Given the description of an element on the screen output the (x, y) to click on. 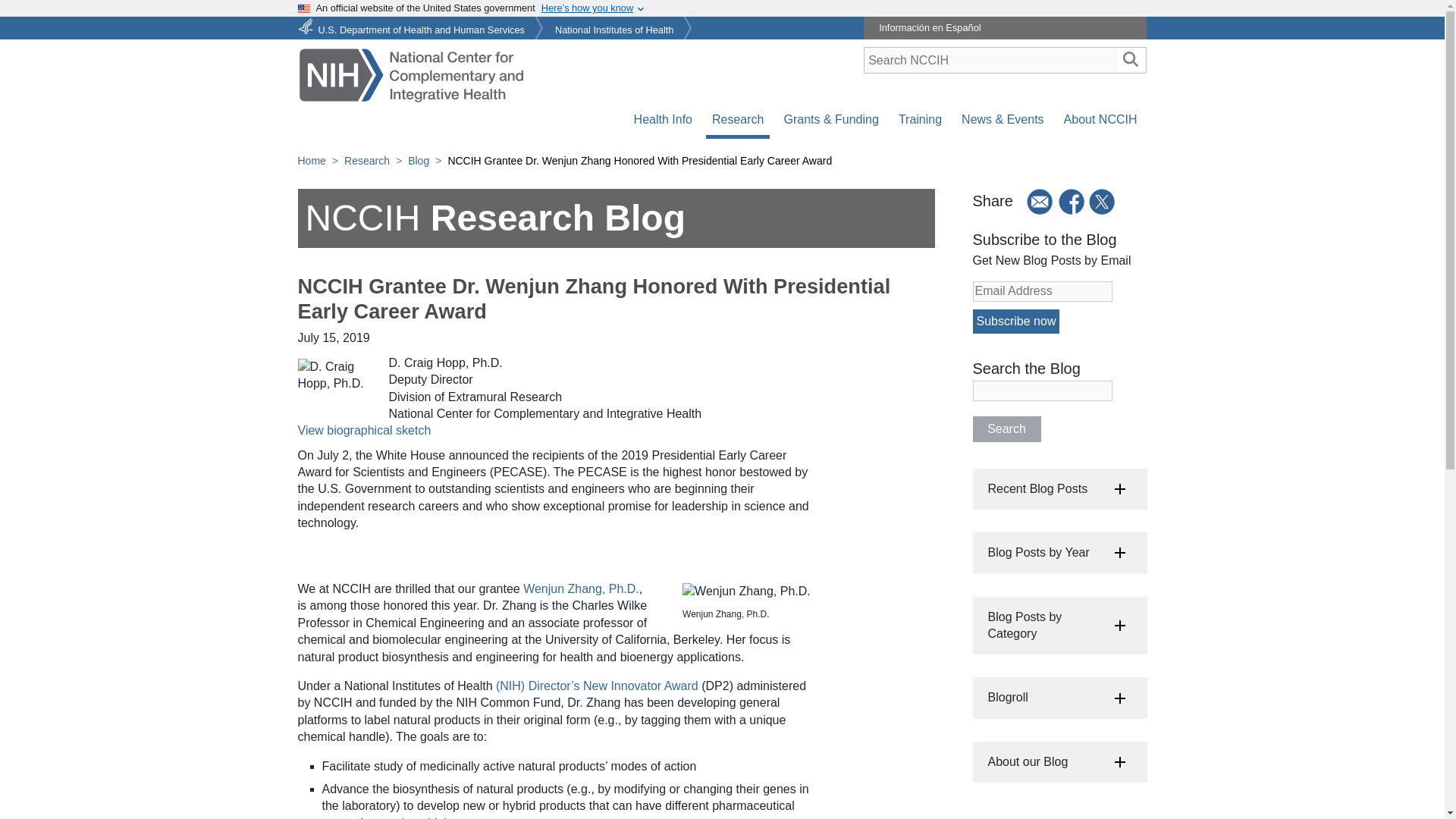
Research (738, 119)
National Center for Complementary and Integrative Health (410, 73)
Facebook (1072, 202)
National Center for Complementary and Integrative Health (410, 74)
Email a friend (1035, 201)
Share this page on Facebook (1072, 201)
Post a link to this page (1102, 201)
U.S. Department of Health and Human Services (412, 25)
X (1102, 202)
Email (1035, 202)
